Given the description of an element on the screen output the (x, y) to click on. 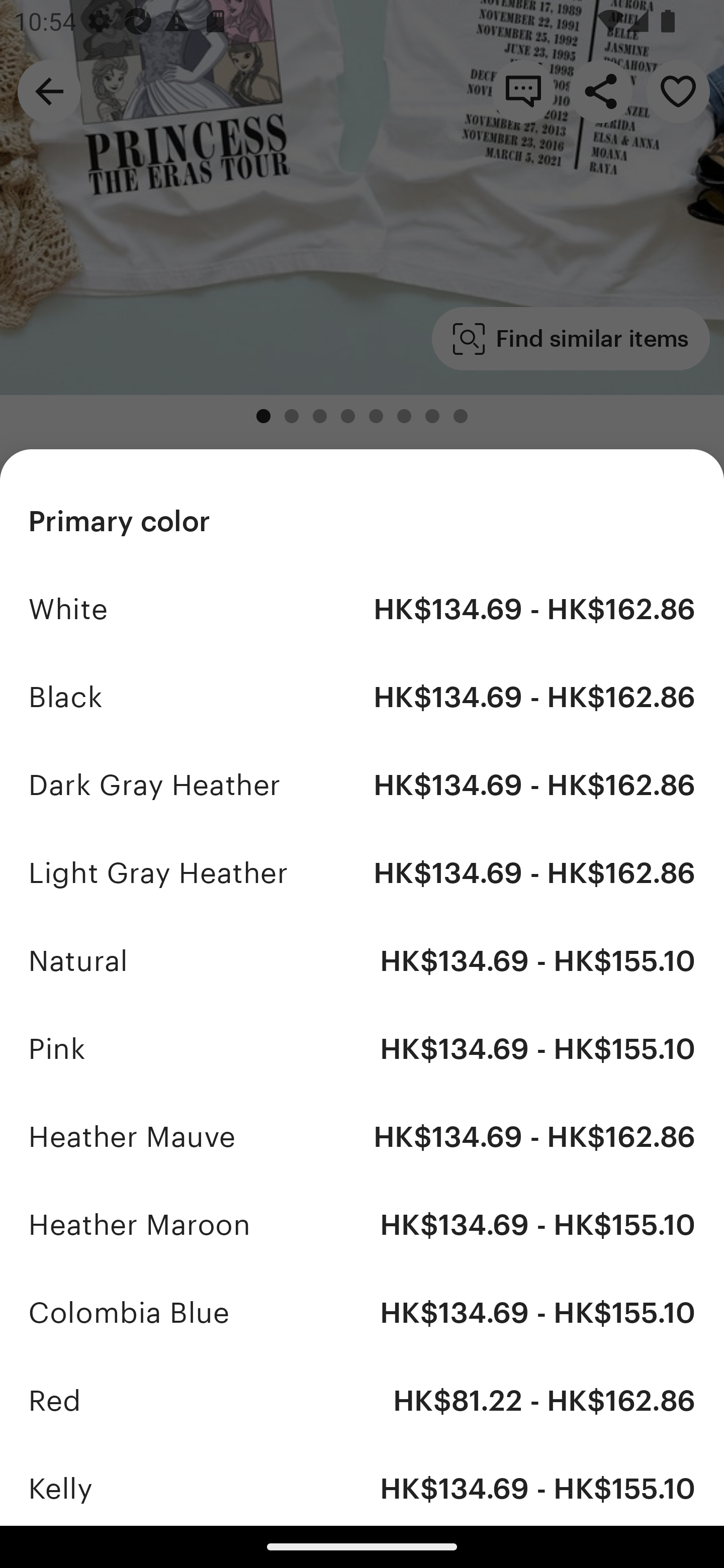
White HK$134.69 - HK$162.86 (362, 609)
Black HK$134.69 - HK$162.86 (362, 697)
Dark Gray Heather HK$134.69 - HK$162.86 (362, 785)
Light Gray Heather HK$134.69 - HK$162.86 (362, 873)
Natural HK$134.69 - HK$155.10 (362, 961)
Pink HK$134.69 - HK$155.10 (362, 1048)
Heather Mauve HK$134.69 - HK$162.86 (362, 1136)
Heather Maroon HK$134.69 - HK$155.10 (362, 1224)
Colombia Blue HK$134.69 - HK$155.10 (362, 1312)
Red HK$81.22 - HK$162.86 (362, 1400)
Kelly HK$134.69 - HK$155.10 (362, 1484)
